Given the description of an element on the screen output the (x, y) to click on. 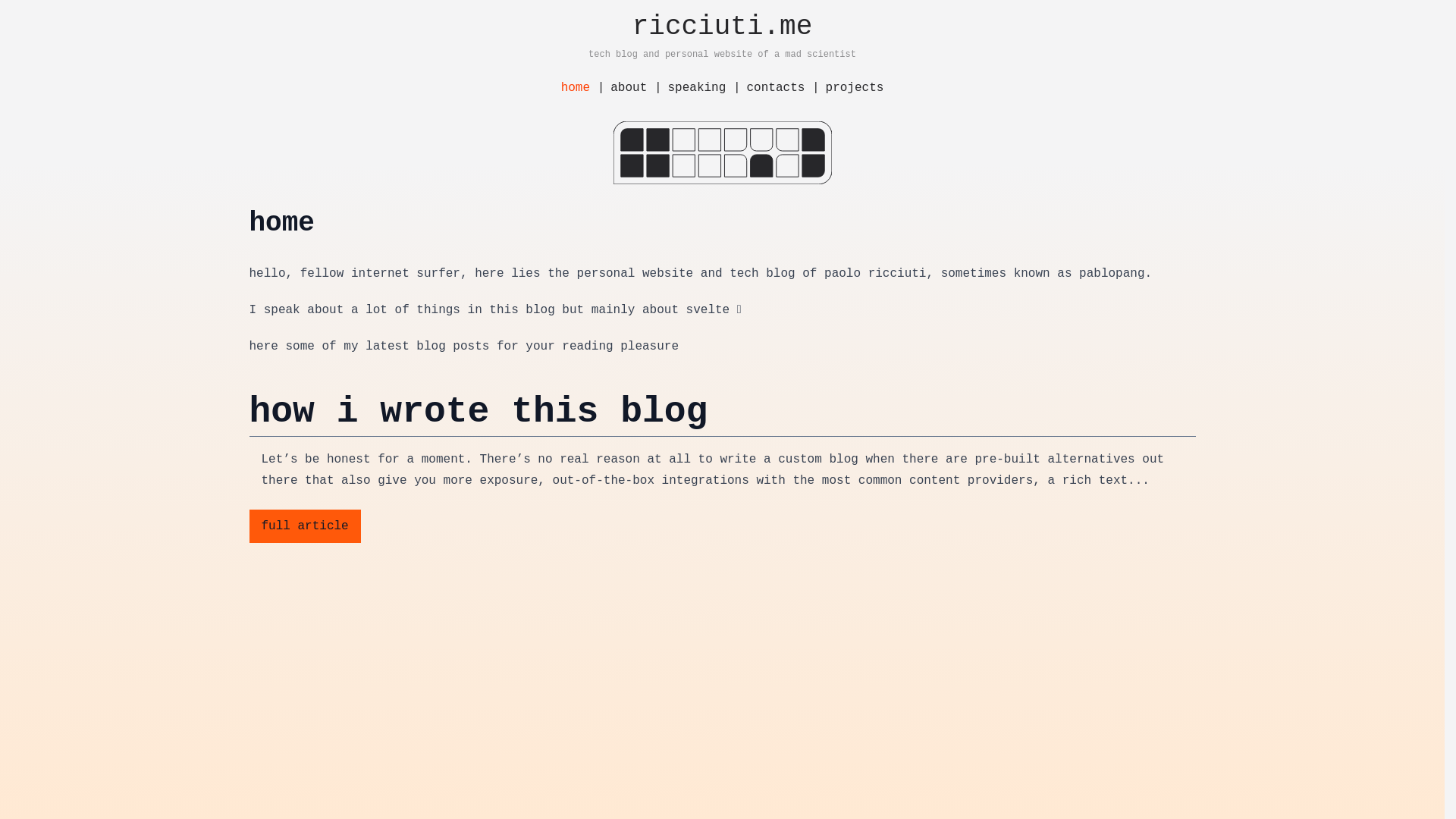
speaking (695, 88)
full article (303, 525)
how i wrote this blog (721, 411)
projects (854, 88)
home (574, 88)
about (628, 88)
contacts (775, 88)
